Given the description of an element on the screen output the (x, y) to click on. 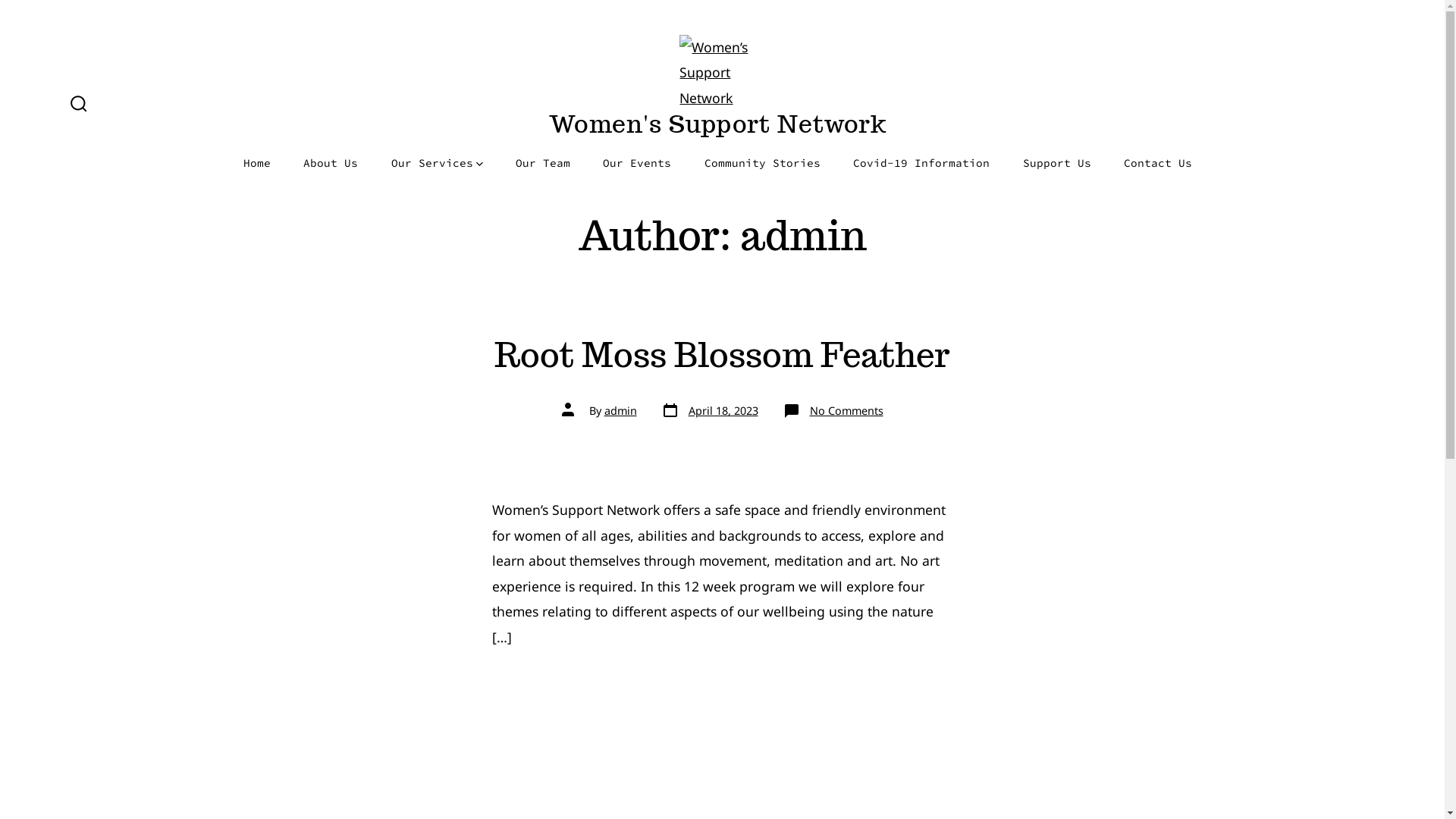
Post date
April 18, 2023 Element type: text (709, 410)
Home Element type: text (256, 163)
SEARCH TOGGLE Element type: text (78, 104)
Women's Support Network Element type: text (717, 125)
Our Services Element type: text (437, 163)
Our Team Element type: text (542, 163)
About Us Element type: text (330, 163)
Support Us Element type: text (1056, 163)
No Comments
on Root Moss Blossom Feather Element type: text (846, 410)
Community Stories Element type: text (762, 163)
admin Element type: text (619, 410)
Our Events Element type: text (636, 163)
Contact Us Element type: text (1157, 163)
Covid-19 Information Element type: text (921, 163)
Root Moss Blossom Feather Element type: text (722, 354)
